Given the description of an element on the screen output the (x, y) to click on. 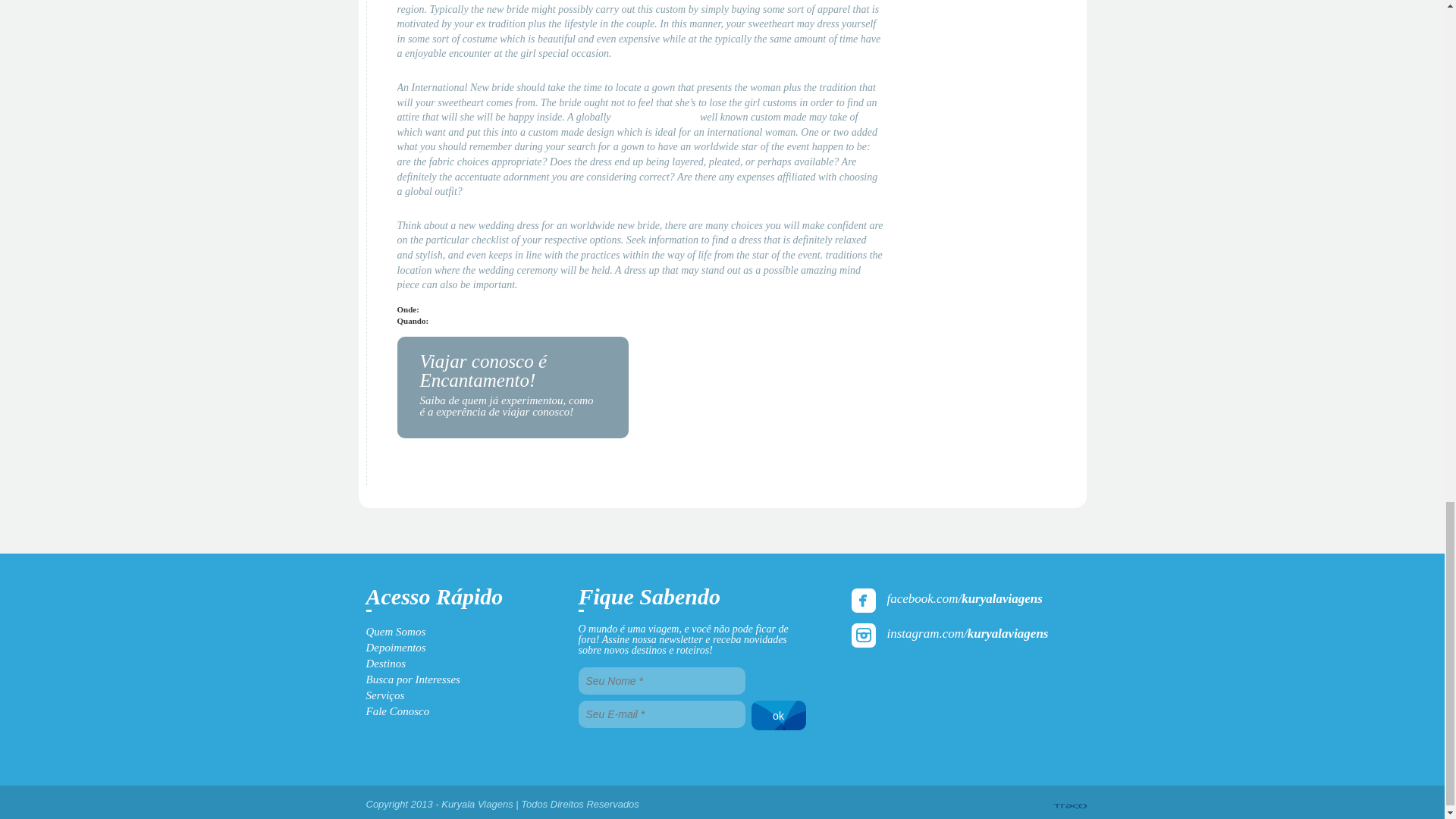
Depoimentos (395, 647)
Fale Conosco (397, 711)
Quem Somos (395, 631)
Destinos (385, 663)
ok (778, 714)
Busca por Interesses (412, 679)
hop over to this site (654, 116)
